Given the description of an element on the screen output the (x, y) to click on. 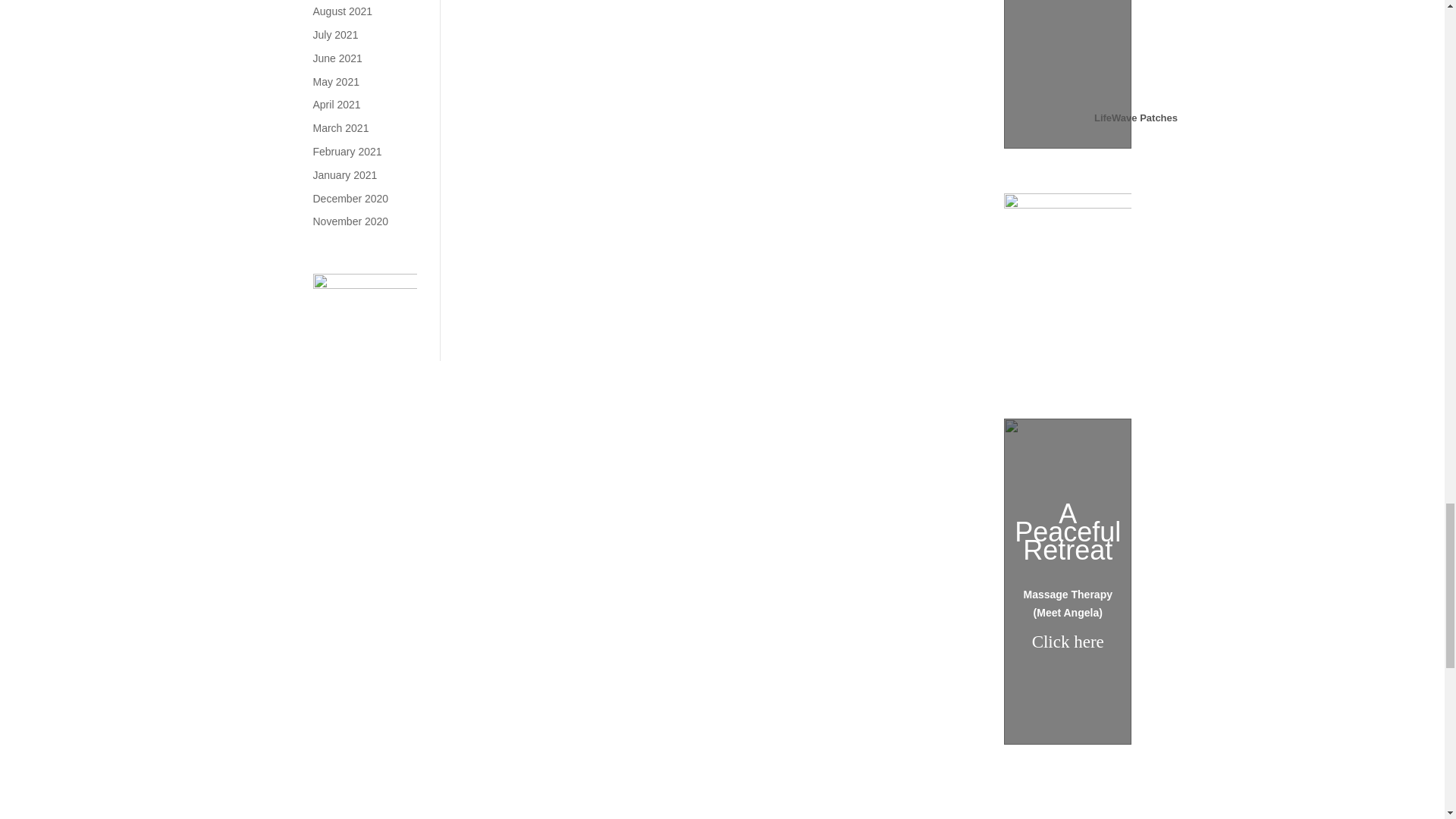
David Schmidt Explains X39 to Health Care Practitioners (1135, 49)
